Given the description of an element on the screen output the (x, y) to click on. 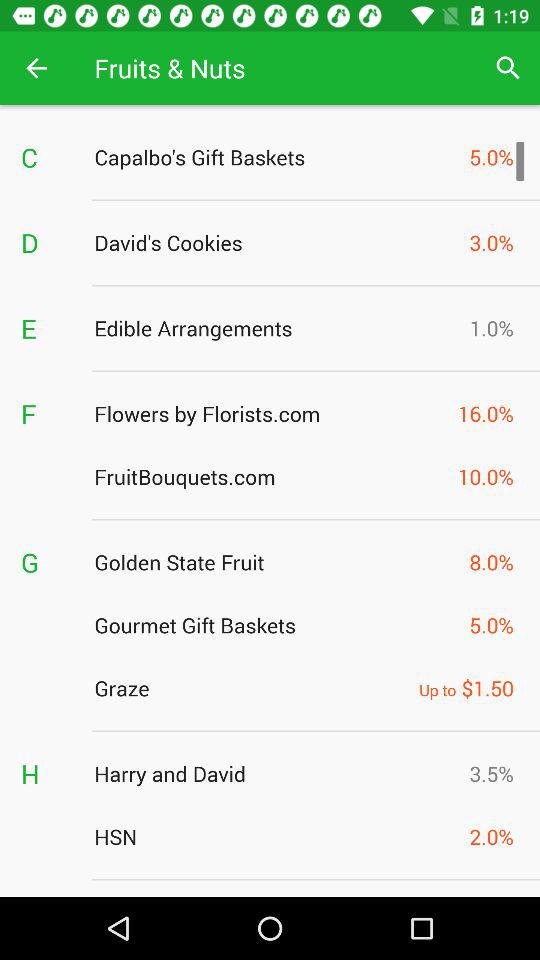
scroll until the fruitbouquets.com icon (270, 476)
